Given the description of an element on the screen output the (x, y) to click on. 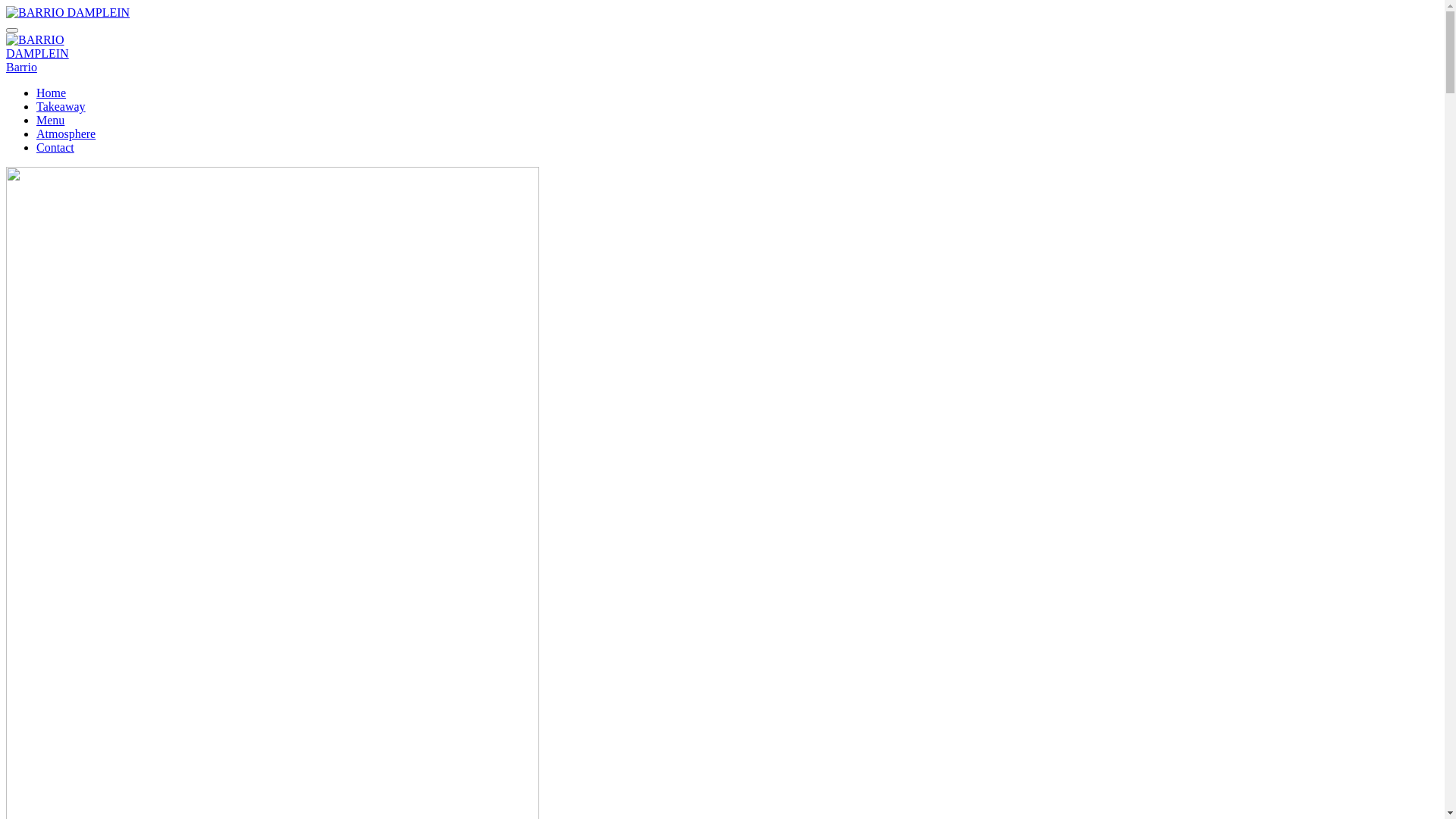
Contact Element type: text (55, 147)
Menu Element type: text (50, 119)
BARRIO DAMPLEIN Element type: hover (37, 46)
BARRIO DAMPLEIN Element type: hover (67, 12)
Home Element type: text (50, 92)
Barrio Element type: text (21, 66)
Atmosphere Element type: text (65, 133)
Takeaway Element type: text (60, 106)
